Given the description of an element on the screen output the (x, y) to click on. 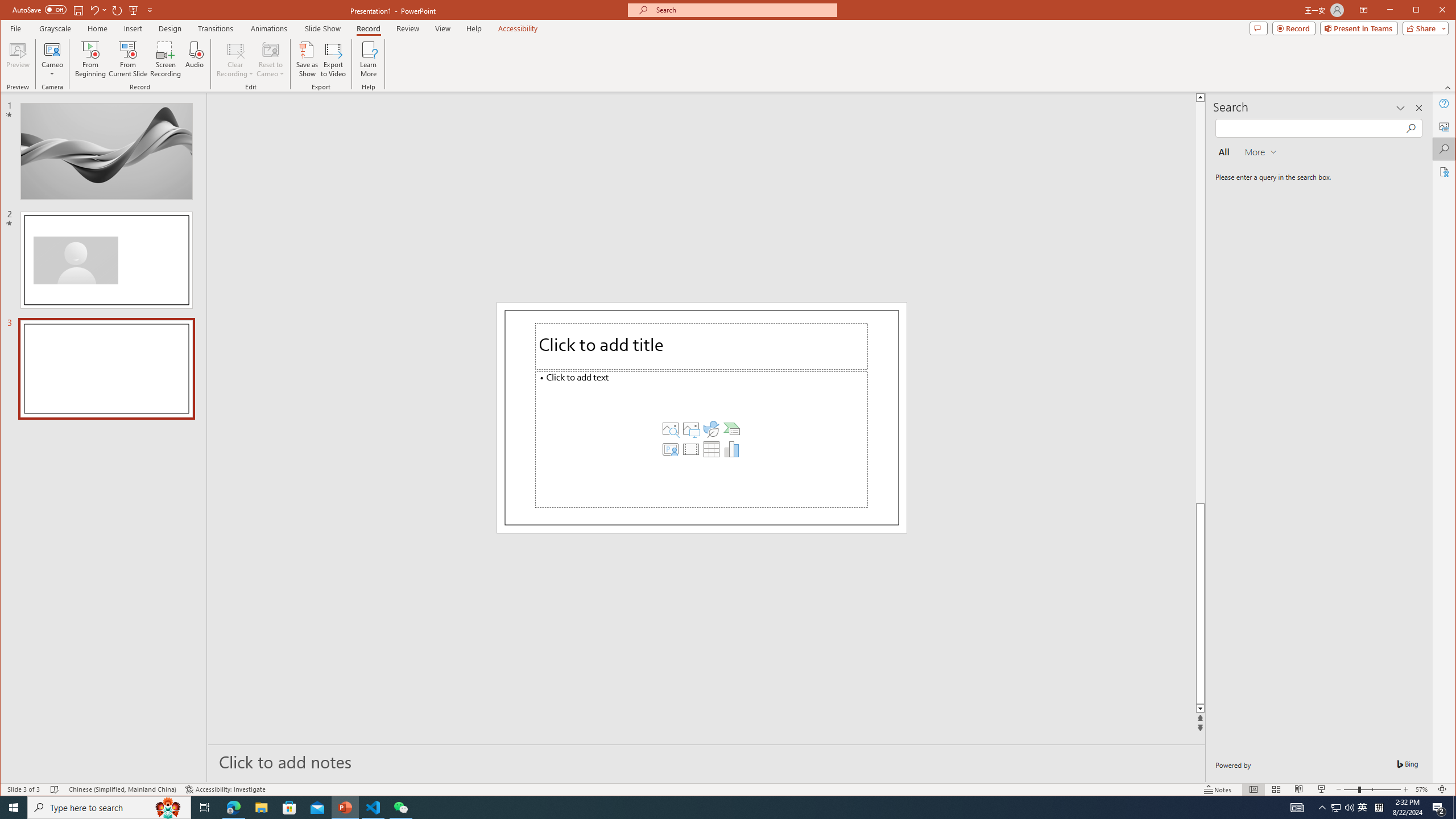
Content Placeholder (701, 439)
